Given the description of an element on the screen output the (x, y) to click on. 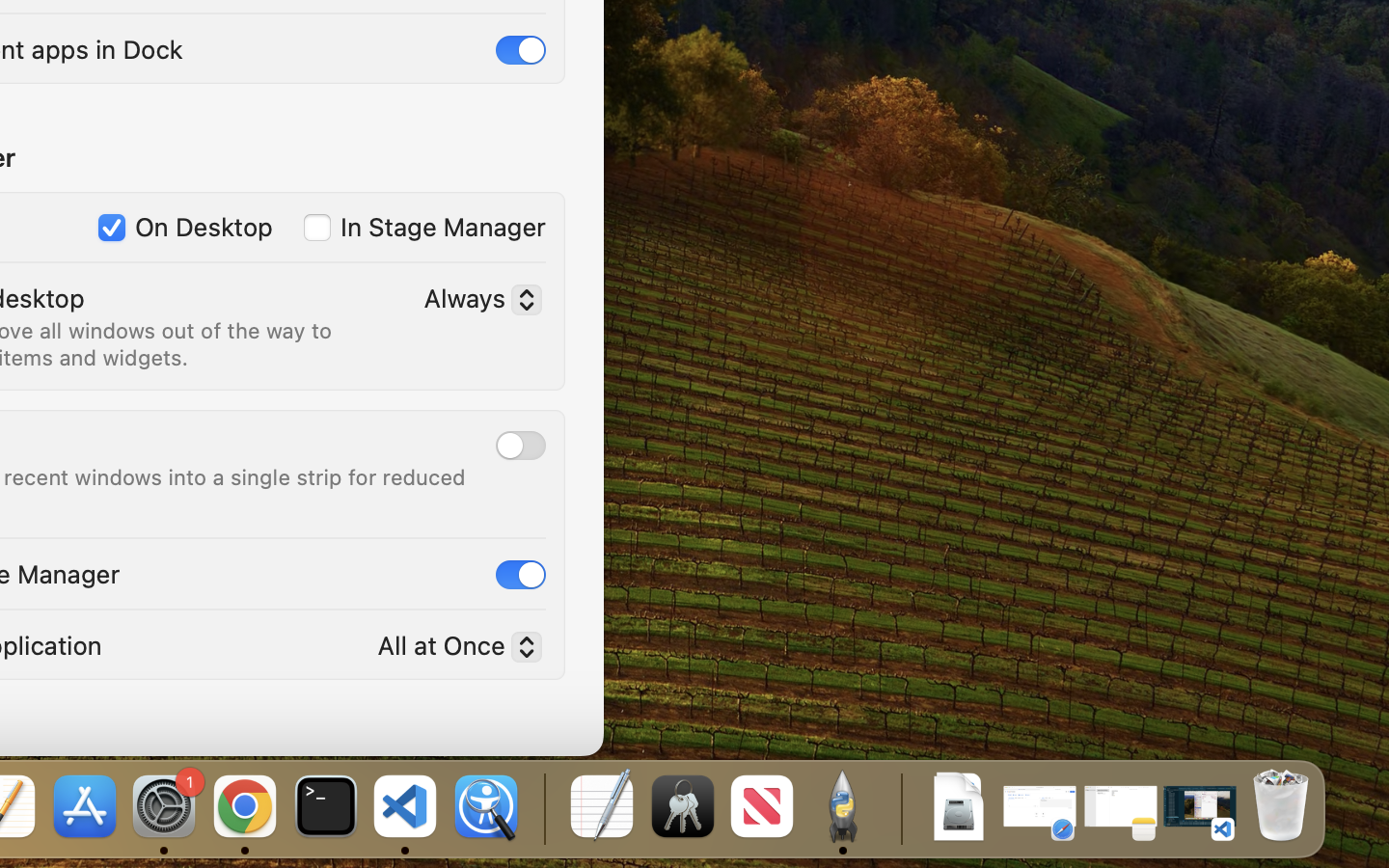
All at Once Element type: AXPopUpButton (451, 648)
Always Element type: AXPopUpButton (474, 301)
0.4285714328289032 Element type: AXDockItem (541, 807)
